Given the description of an element on the screen output the (x, y) to click on. 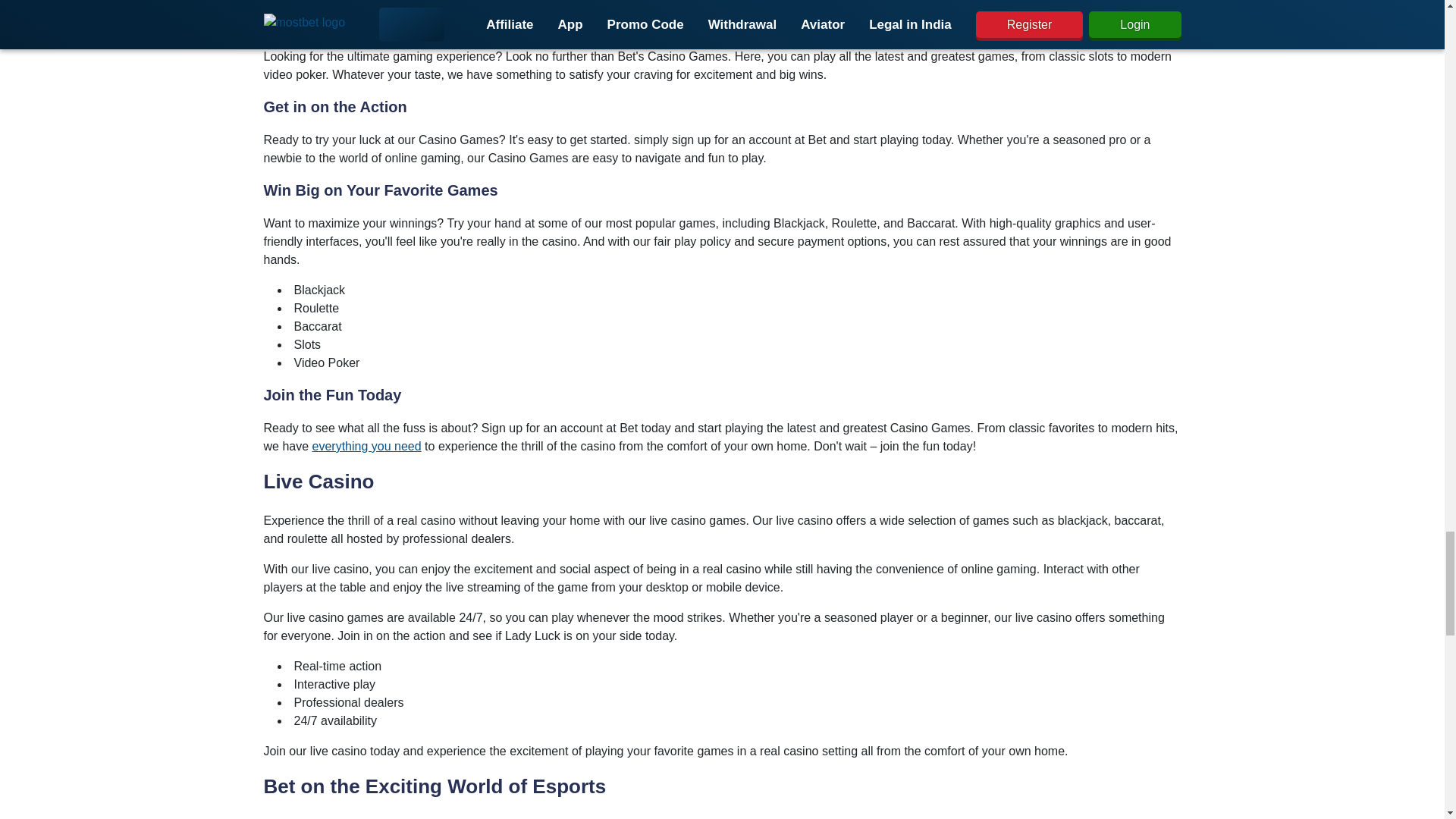
everything you need (367, 445)
